Given the description of an element on the screen output the (x, y) to click on. 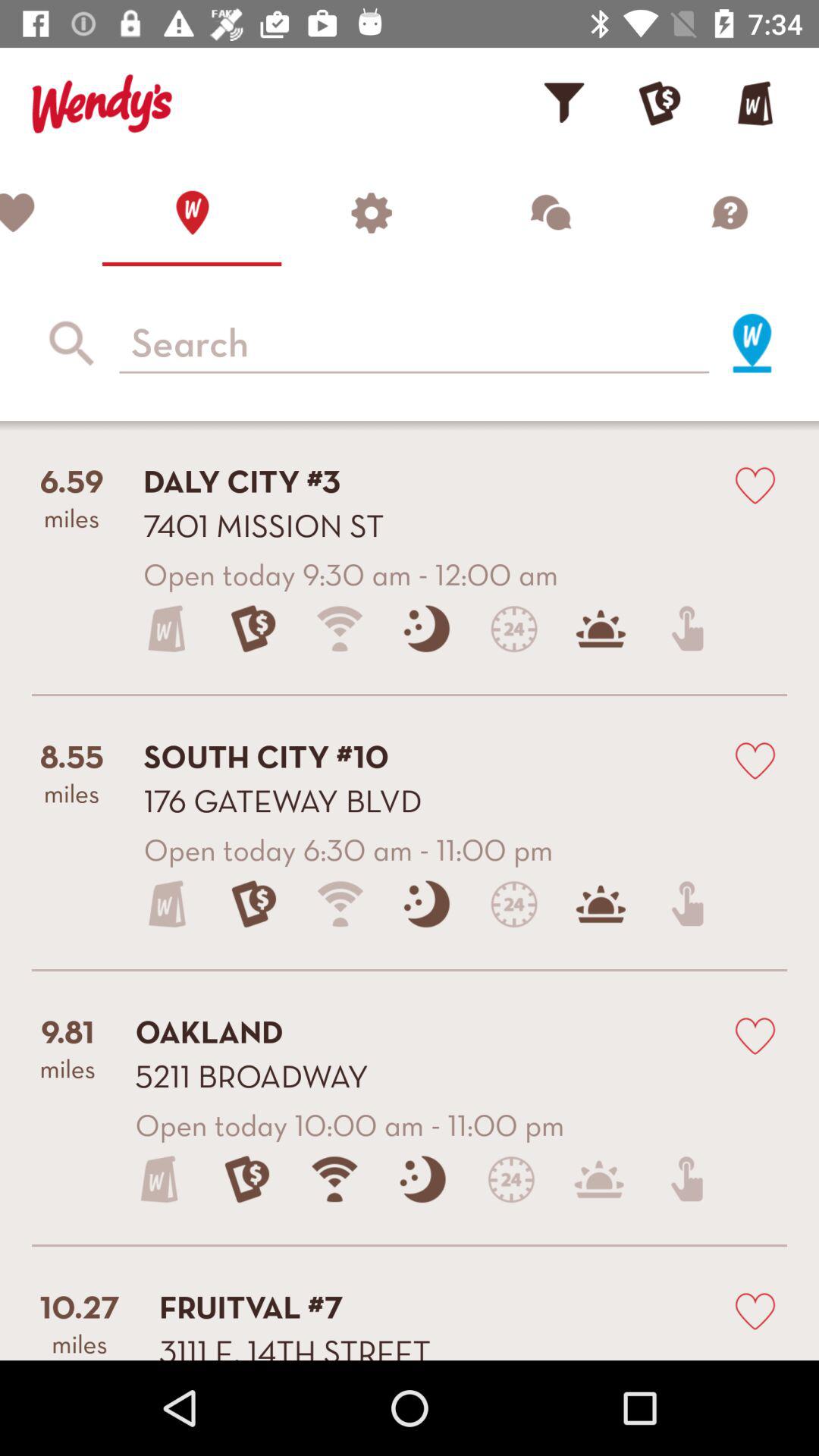
like (755, 1310)
